Given the description of an element on the screen output the (x, y) to click on. 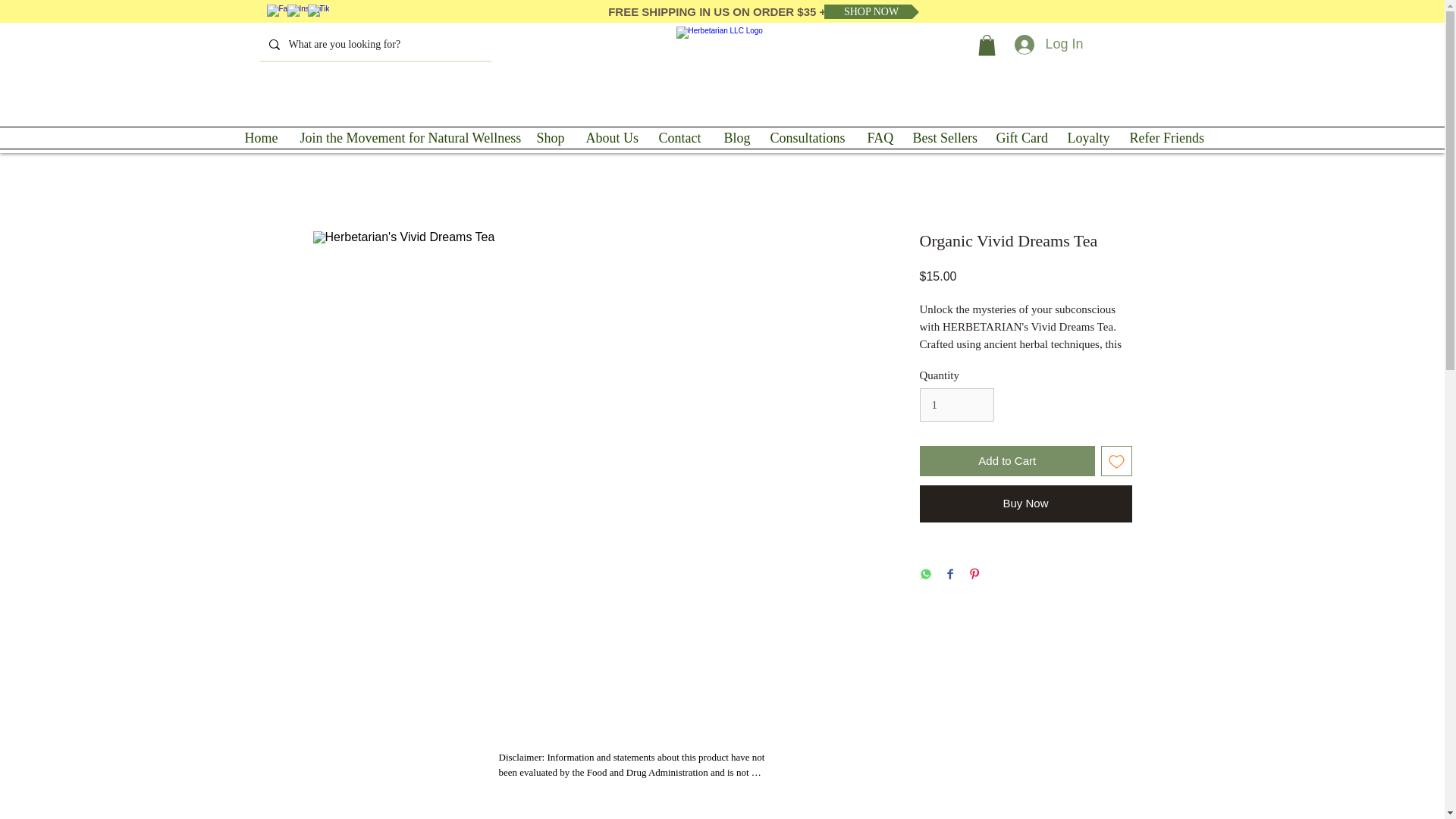
Consultations (807, 137)
Blog (735, 137)
About Us (611, 137)
FAQ (878, 137)
Add to Cart (1006, 460)
Shop (548, 137)
1 (955, 404)
Buy Now (1024, 503)
Best Sellers (942, 137)
Log In (1048, 44)
